Given the description of an element on the screen output the (x, y) to click on. 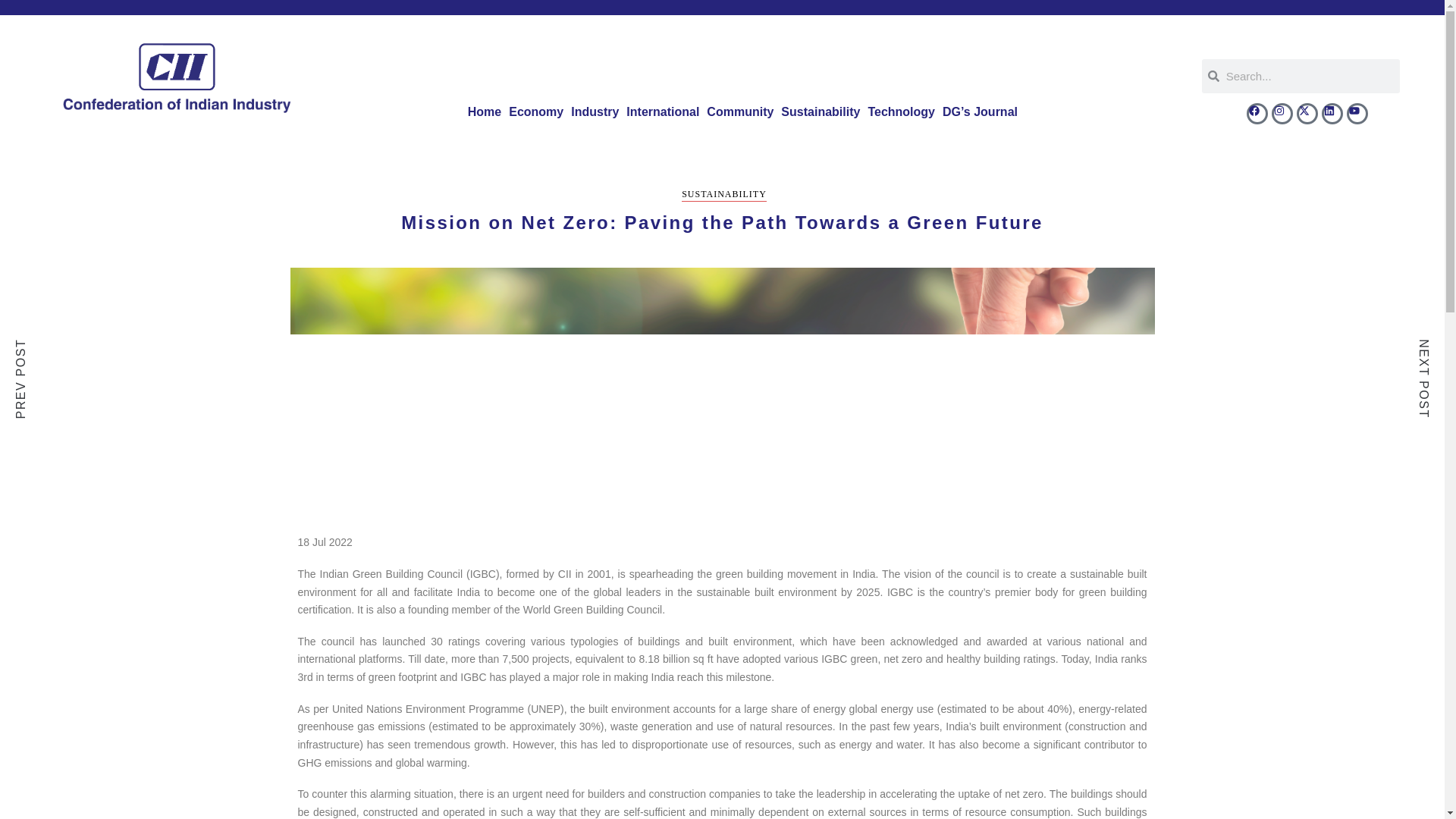
Technology (901, 112)
Industry (595, 112)
International (663, 112)
Sustainability (820, 112)
Economy (536, 112)
Home (484, 112)
SUSTAINABILITY (724, 195)
Community (740, 112)
